Given the description of an element on the screen output the (x, y) to click on. 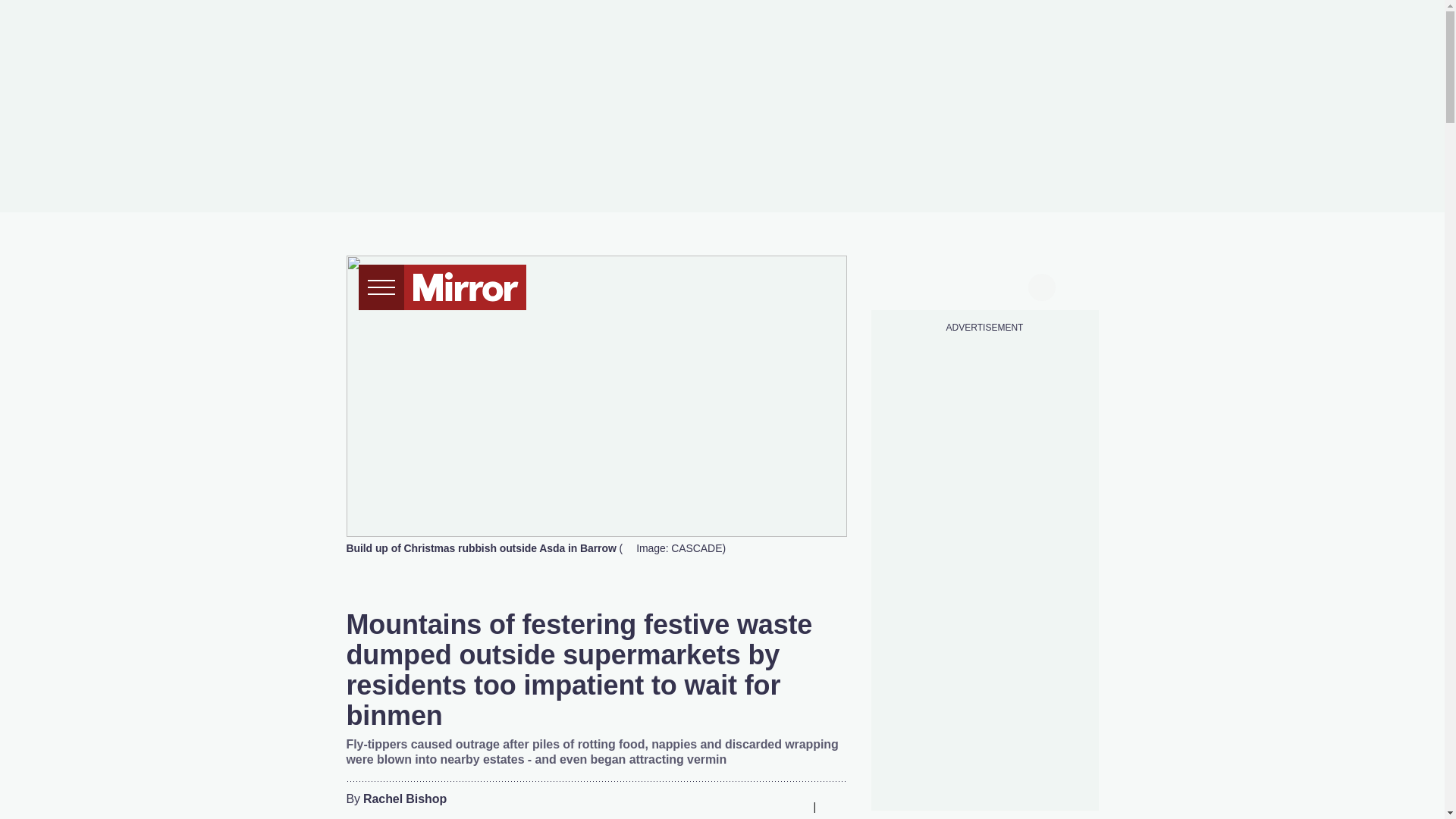
Facebook (702, 806)
twitter (926, 285)
facebook (897, 285)
Whatsapp (763, 806)
Comments (834, 806)
Twitter (733, 806)
snapchat (1012, 285)
instagram (984, 285)
tiktok (955, 285)
